Given the description of an element on the screen output the (x, y) to click on. 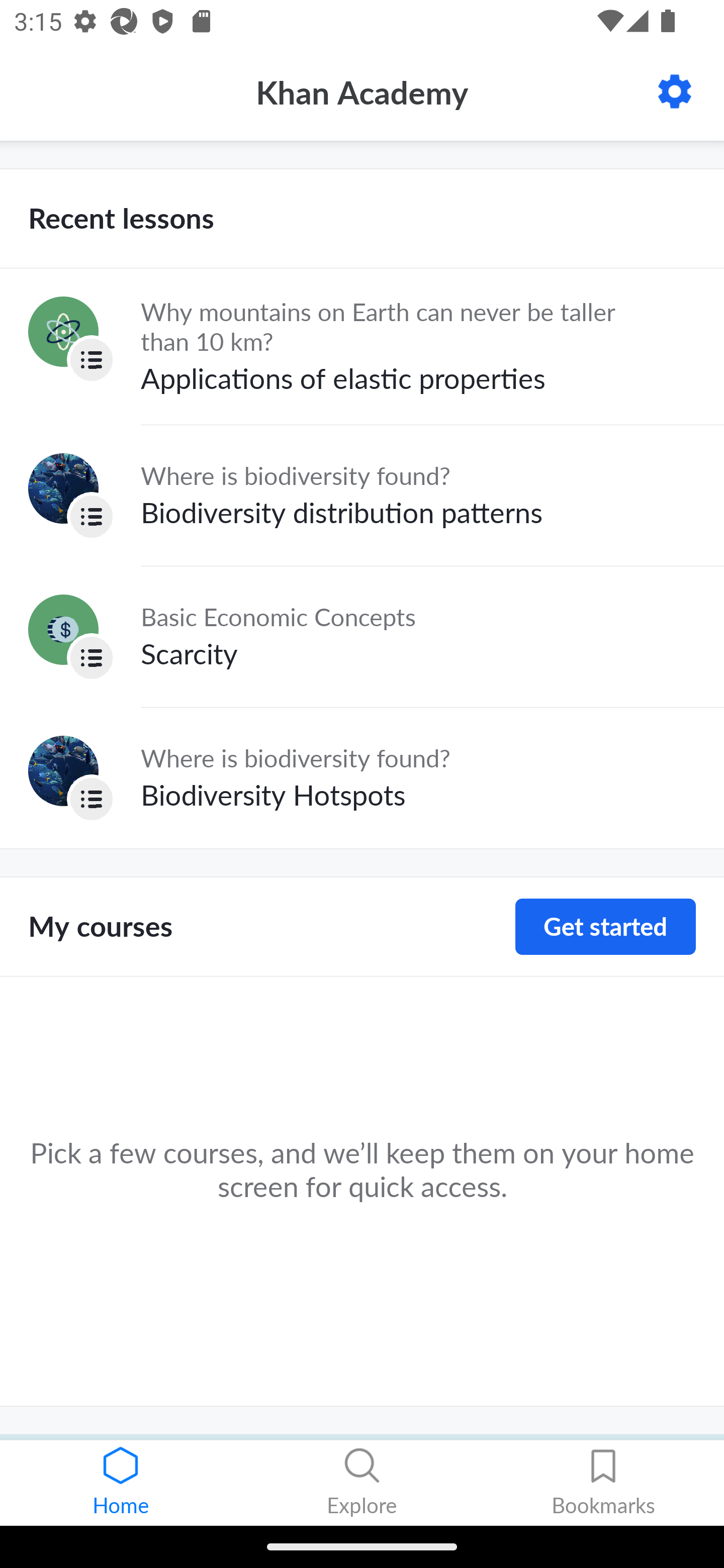
Settings (674, 91)
Lesson Basic Economic Concepts Scarcity (362, 636)
Get started (605, 926)
Home (120, 1482)
Explore (361, 1482)
Bookmarks (603, 1482)
